Given the description of an element on the screen output the (x, y) to click on. 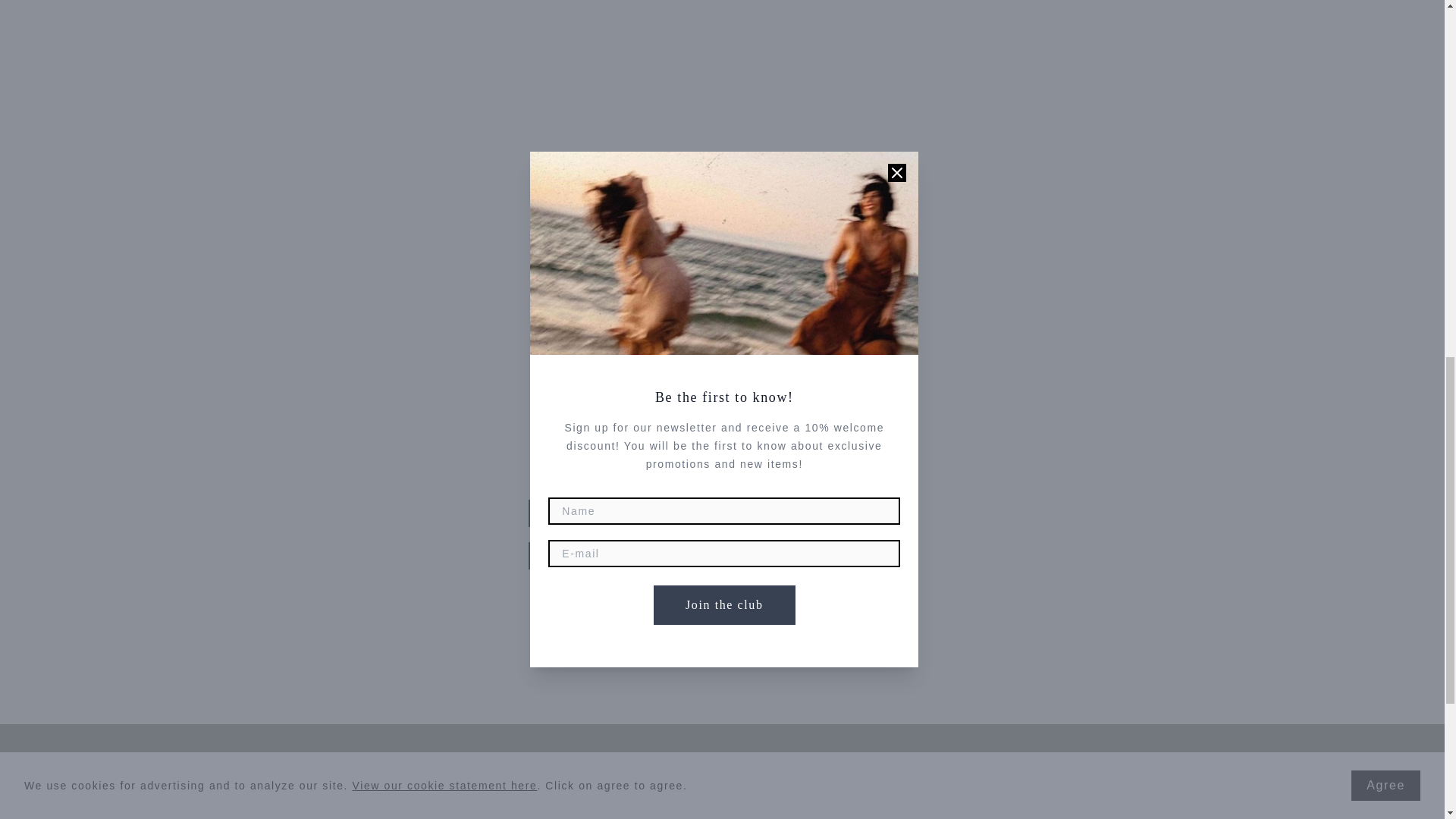
Yuna (607, 806)
Join the club (721, 607)
